Given the description of an element on the screen output the (x, y) to click on. 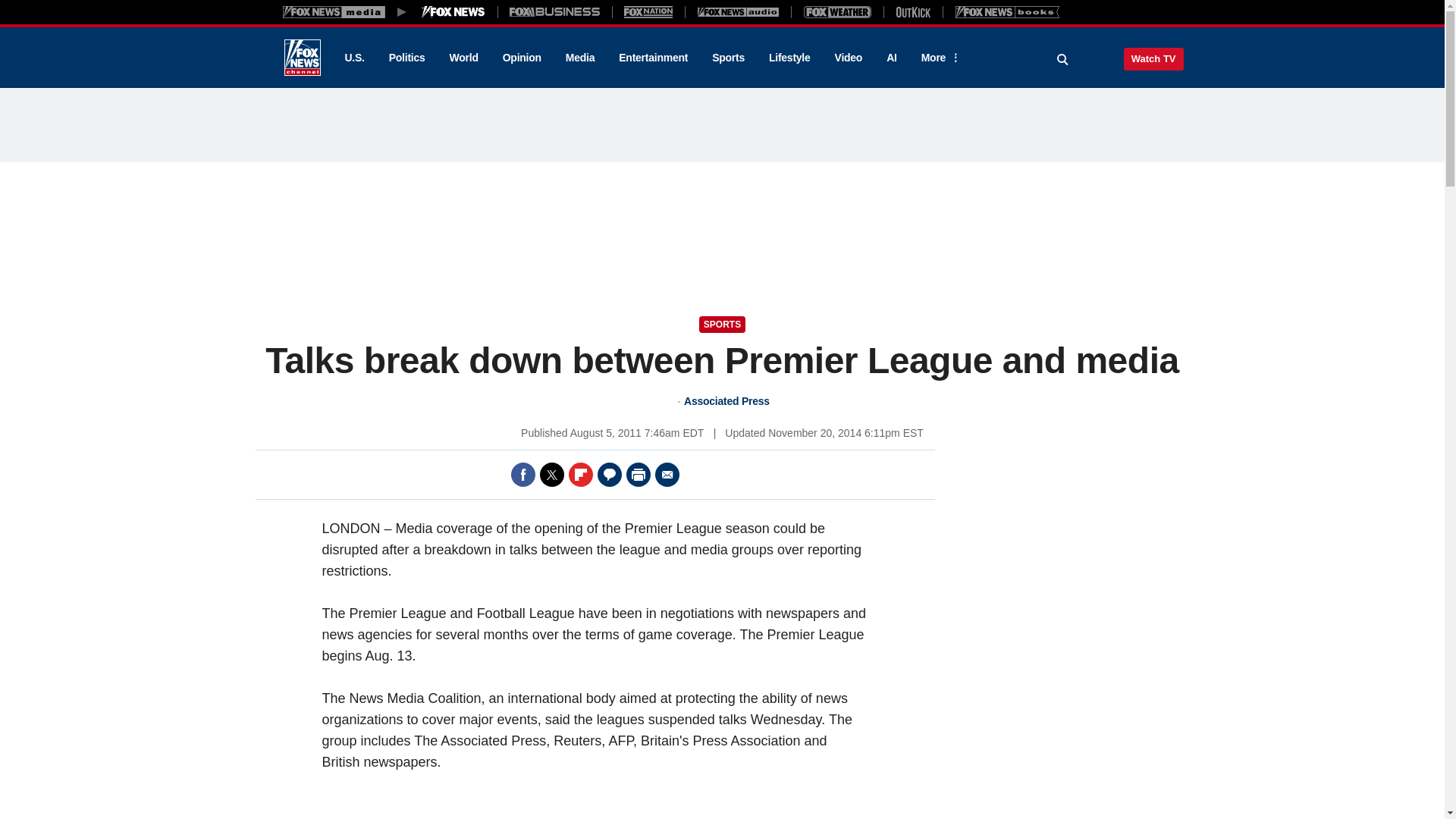
More (938, 57)
Video (848, 57)
World (464, 57)
Opinion (521, 57)
AI (891, 57)
Outkick (912, 11)
Entertainment (653, 57)
U.S. (353, 57)
Lifestyle (789, 57)
Books (1007, 11)
